Given the description of an element on the screen output the (x, y) to click on. 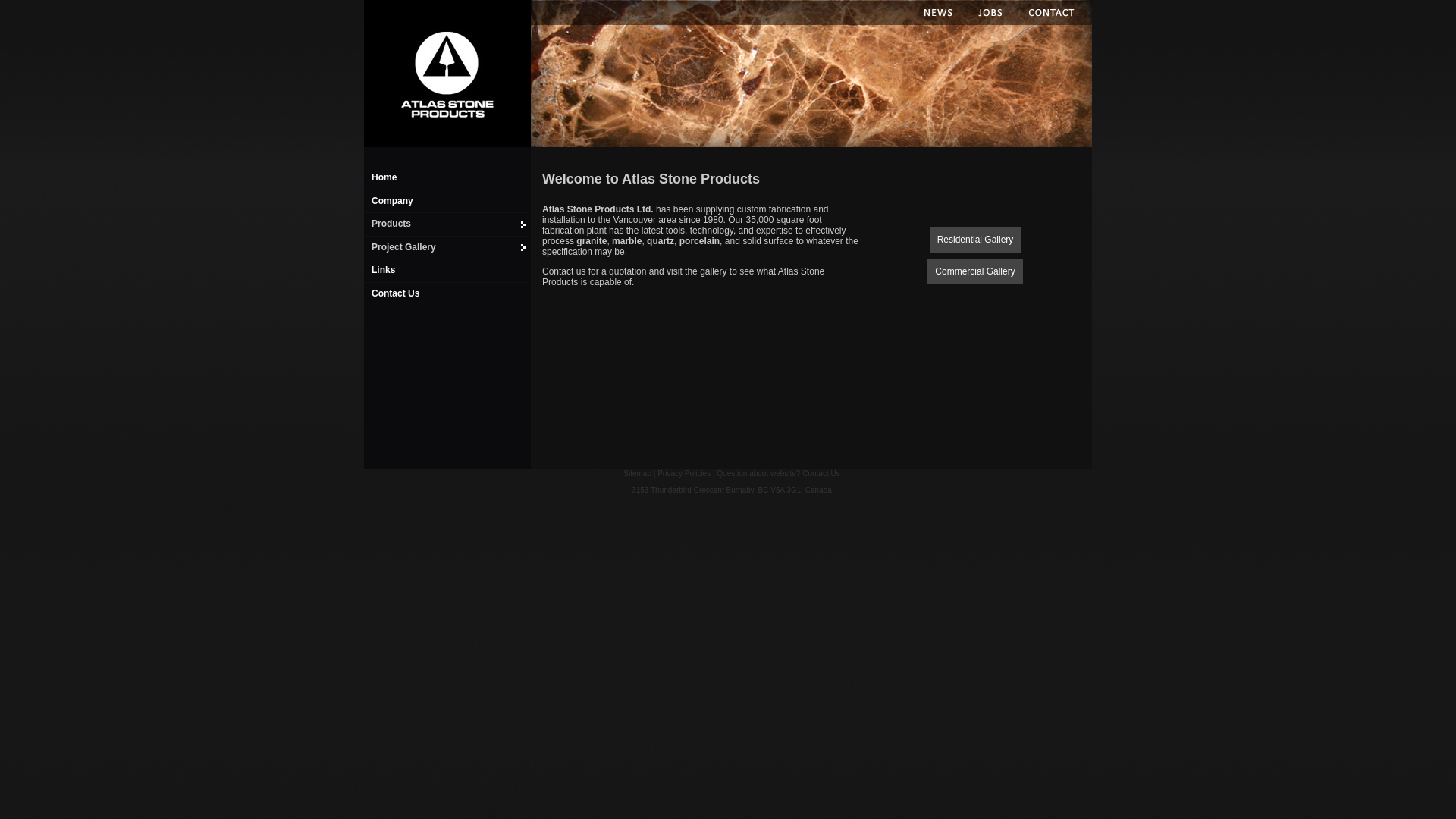
Privacy Policies Element type: text (683, 473)
Commercial Gallery Element type: text (974, 270)
Home Element type: hover (445, 73)
Company Element type: text (392, 200)
Contact Us Element type: text (395, 293)
Residential Gallery Element type: text (975, 238)
Home Element type: text (383, 177)
Links Element type: text (383, 269)
Contact Us Element type: text (820, 473)
Sitemap Element type: text (637, 473)
